Given the description of an element on the screen output the (x, y) to click on. 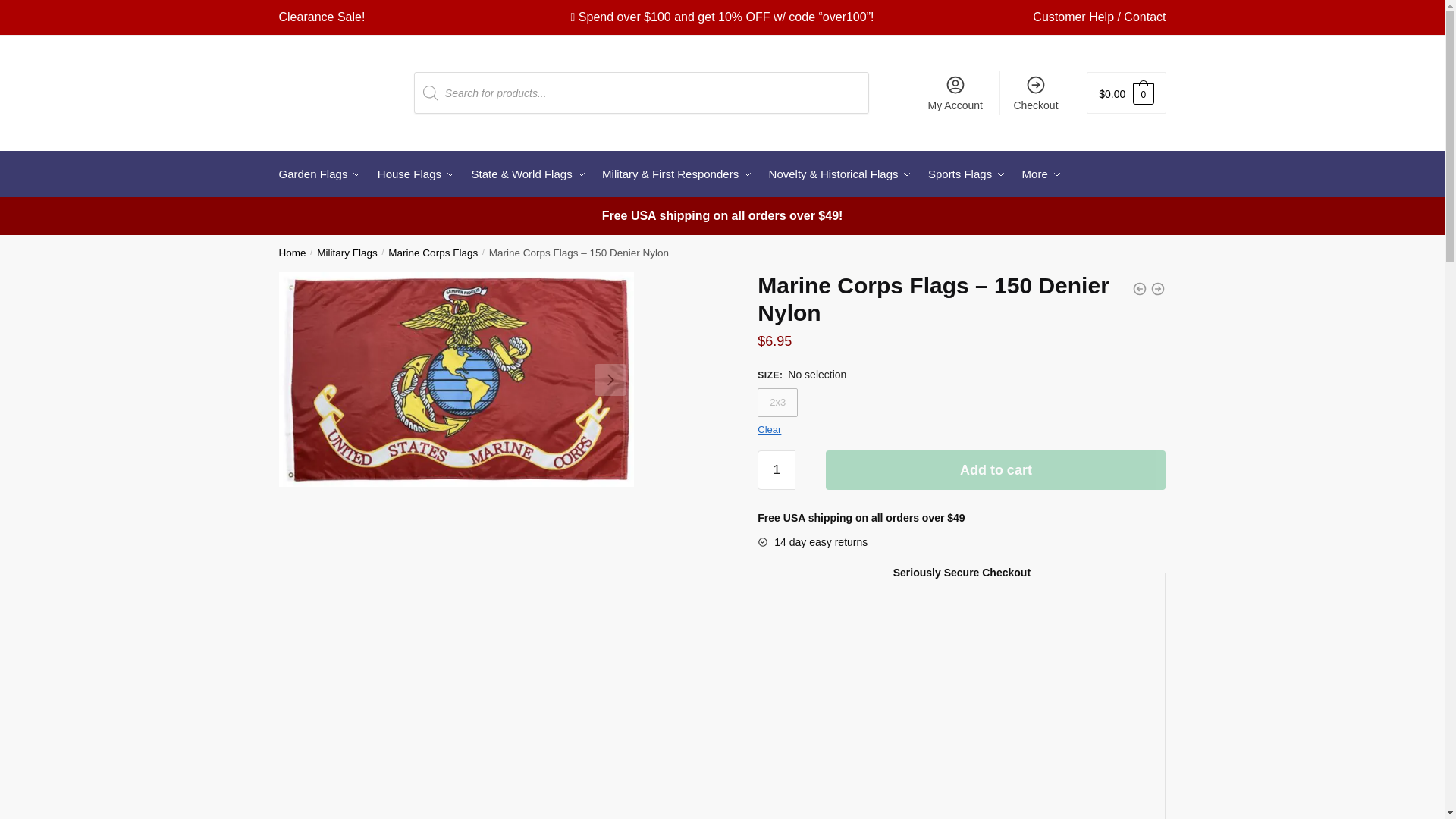
My Account (954, 92)
Garden Flags (323, 174)
1 (775, 469)
Clearance Sale! (322, 16)
2x3 (777, 402)
click to zoom-in (456, 379)
Checkout (1035, 92)
View your shopping cart (1126, 92)
